Given the description of an element on the screen output the (x, y) to click on. 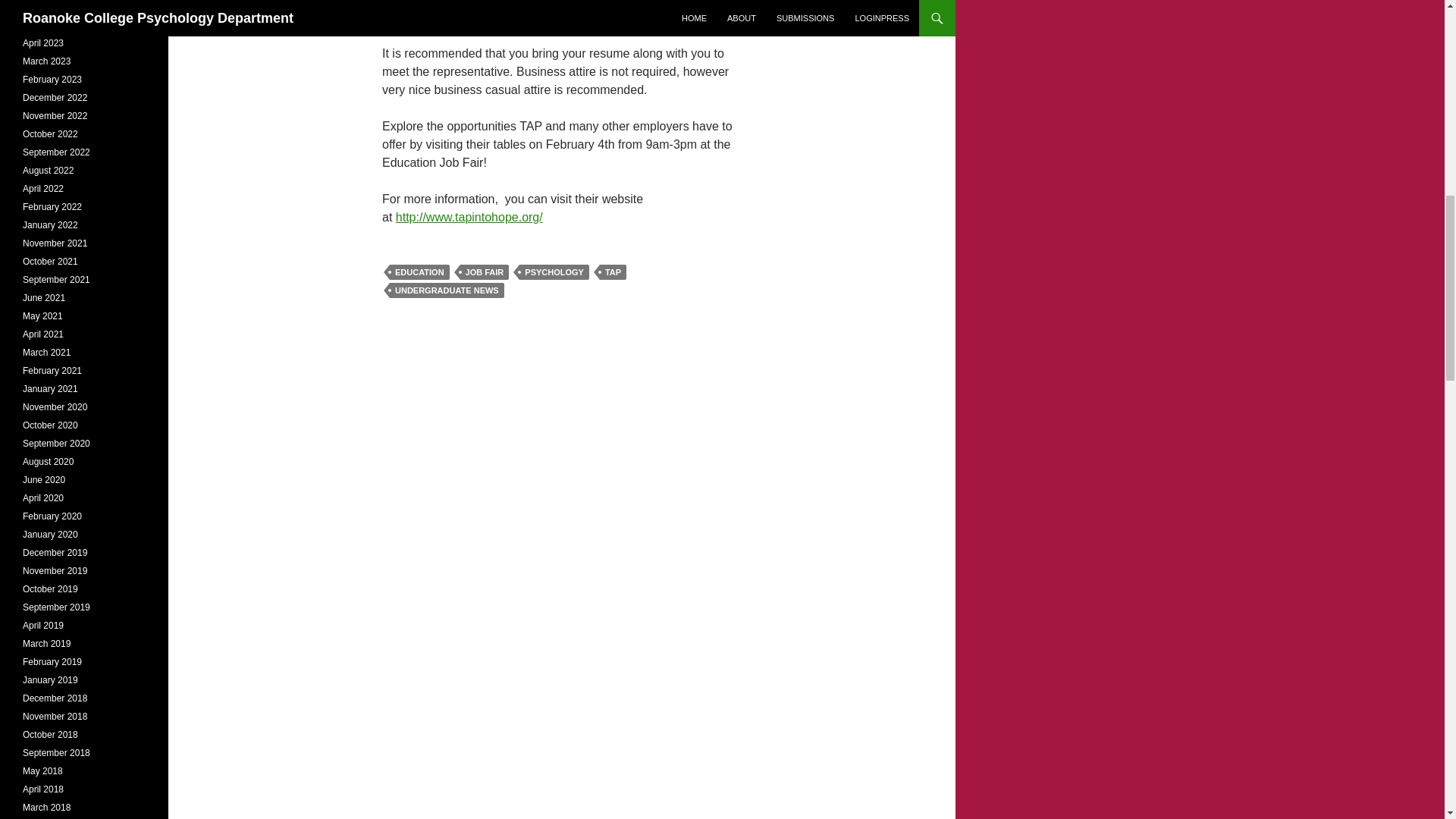
TAP (612, 272)
UNDERGRADUATE NEWS (446, 290)
PSYCHOLOGY (554, 272)
EDUCATION (419, 272)
JOB FAIR (484, 272)
